Given the description of an element on the screen output the (x, y) to click on. 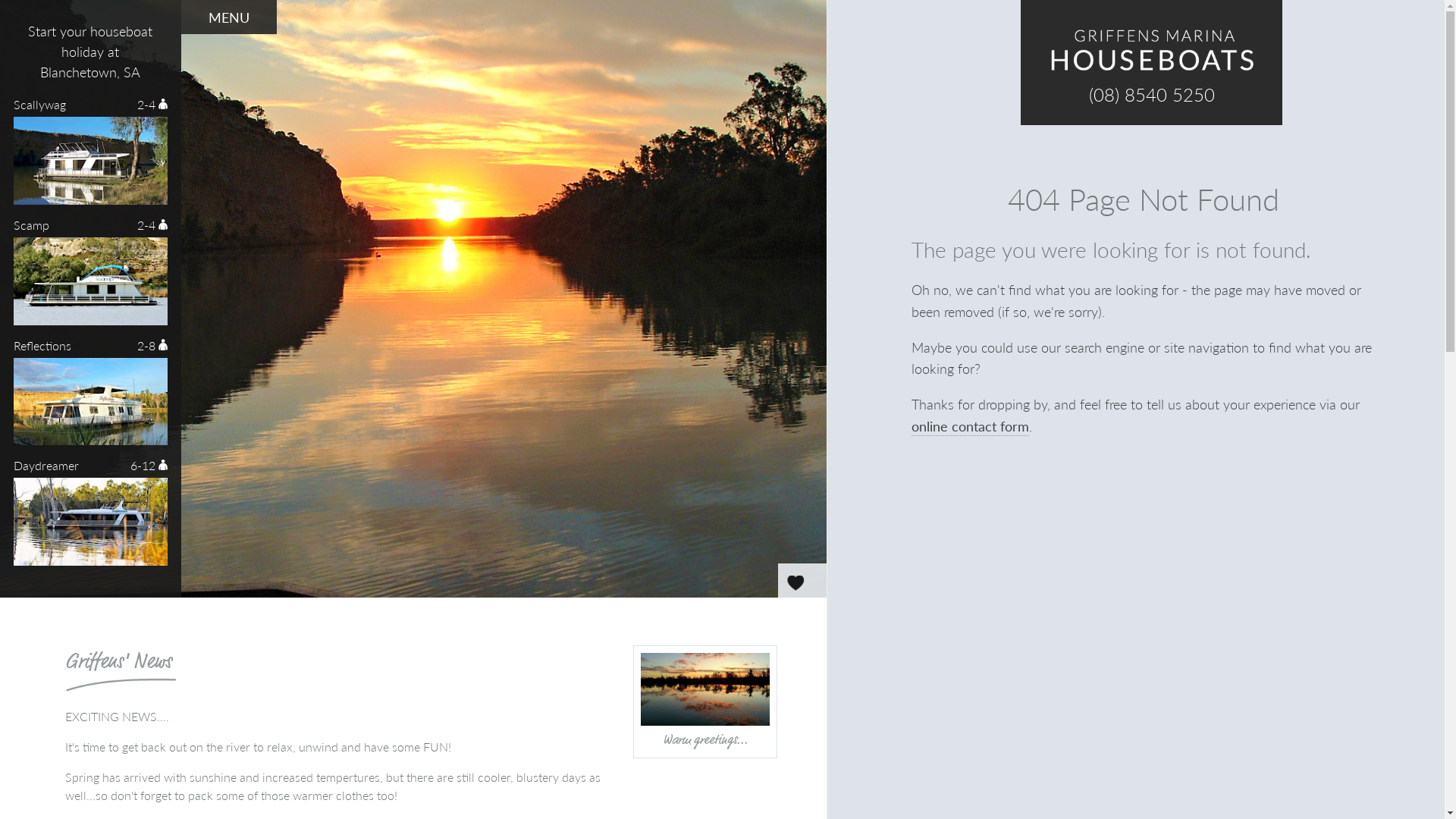
Daydreamer
6-12 Element type: text (90, 516)
Scallywag
2-4 Element type: text (90, 155)
online contact form Element type: text (970, 426)
(08) 8540 5250 Element type: text (1151, 93)
Scamp
2-4 Element type: text (90, 276)
Reflections
2-8 Element type: text (90, 396)
